Given the description of an element on the screen output the (x, y) to click on. 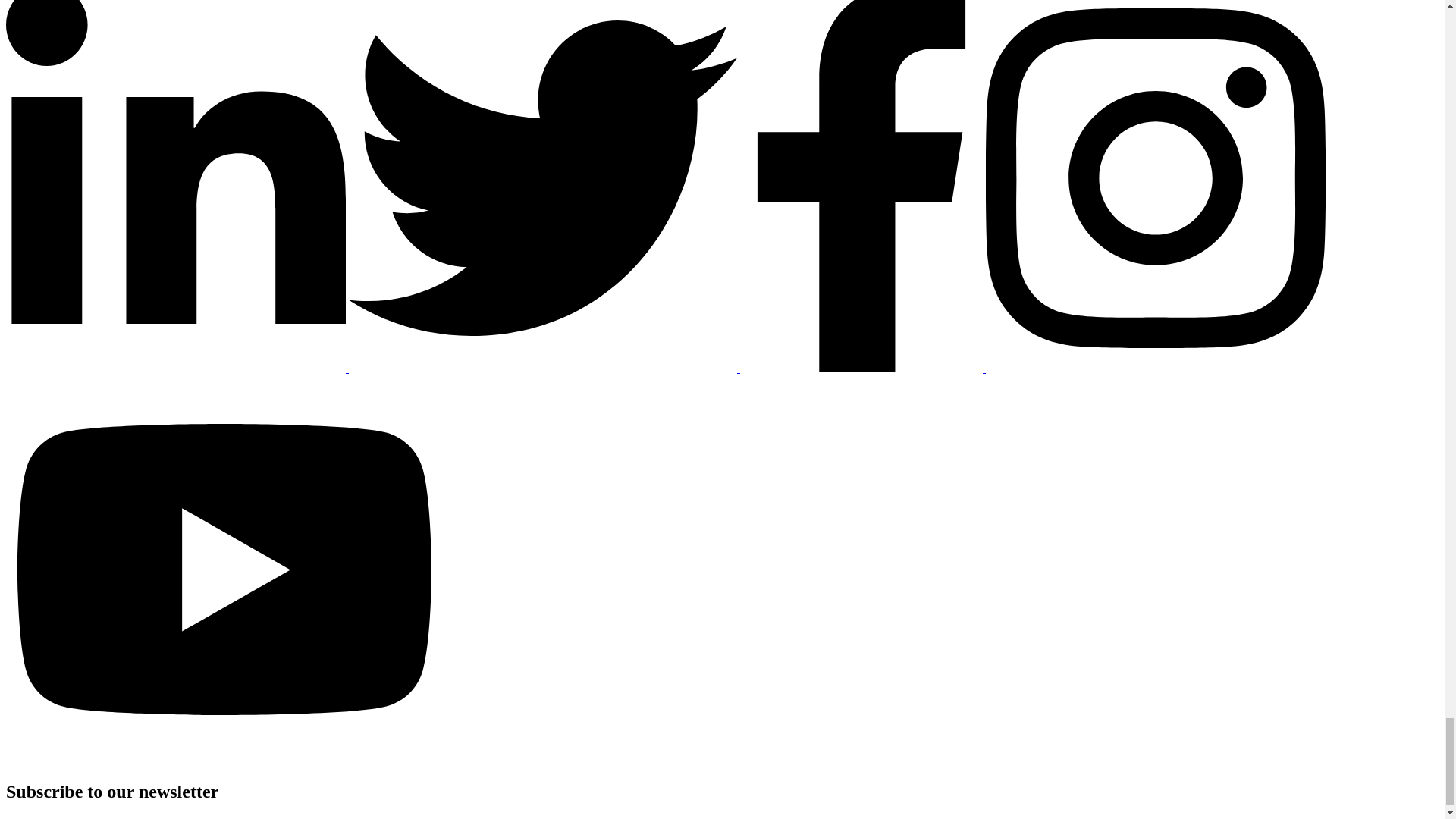
View United Global Capital's LinkedIn Page (177, 367)
View United Global Capital's Instagram Page (1154, 367)
View United Global Capital's Twitter Page (544, 367)
View United Global Capital's Facebook Page (862, 367)
View United Global Capital's YouTube Page (223, 758)
